Given the description of an element on the screen output the (x, y) to click on. 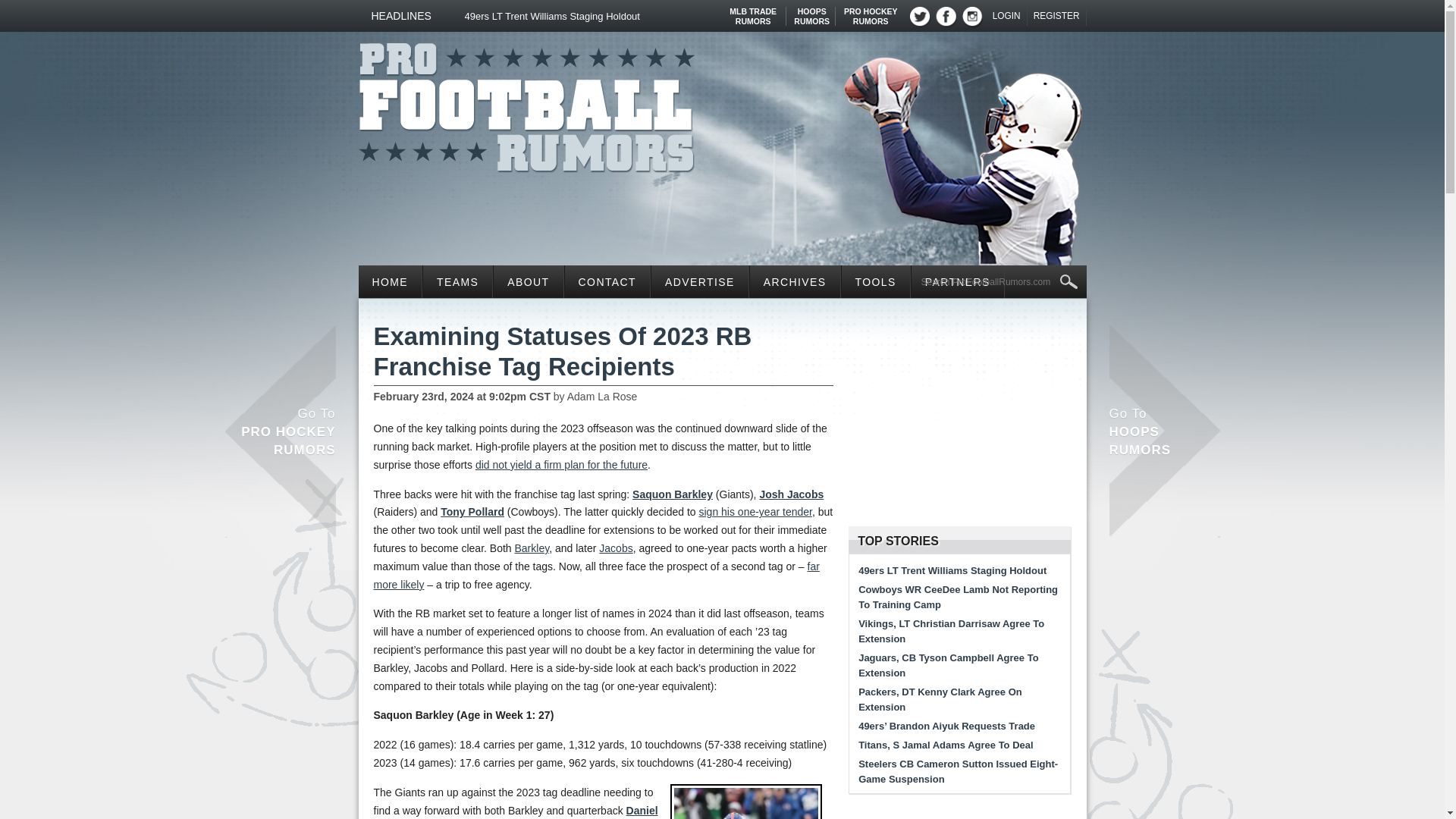
49ers LT Trent Williams Staging Holdout (610, 16)
Pro Football Rumors (870, 11)
Search for: (526, 103)
LOGIN (811, 11)
HOME (999, 282)
TEAMS (1007, 16)
Search (390, 281)
REGISTER (457, 281)
